Given the description of an element on the screen output the (x, y) to click on. 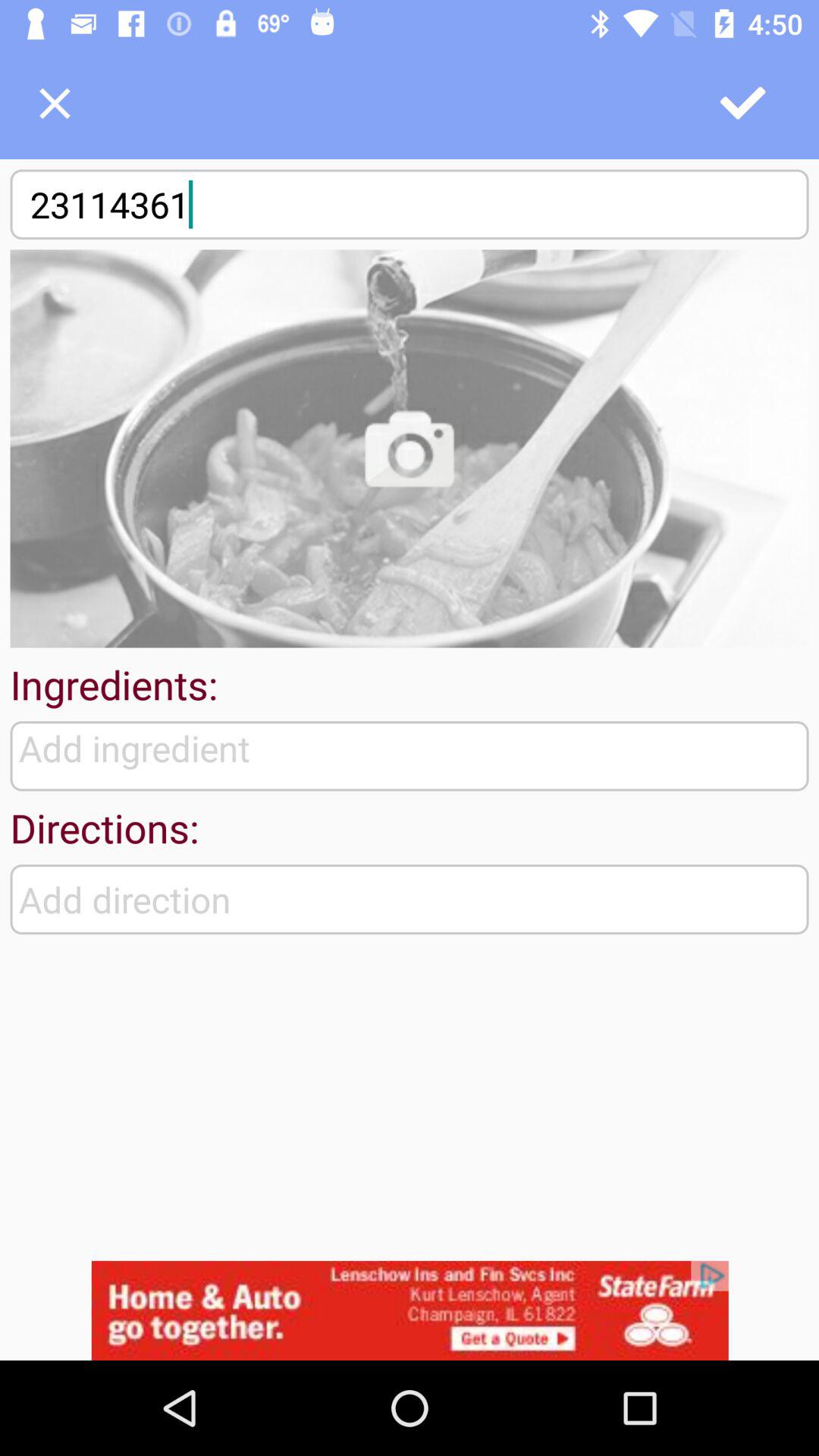
post (744, 103)
